Given the description of an element on the screen output the (x, y) to click on. 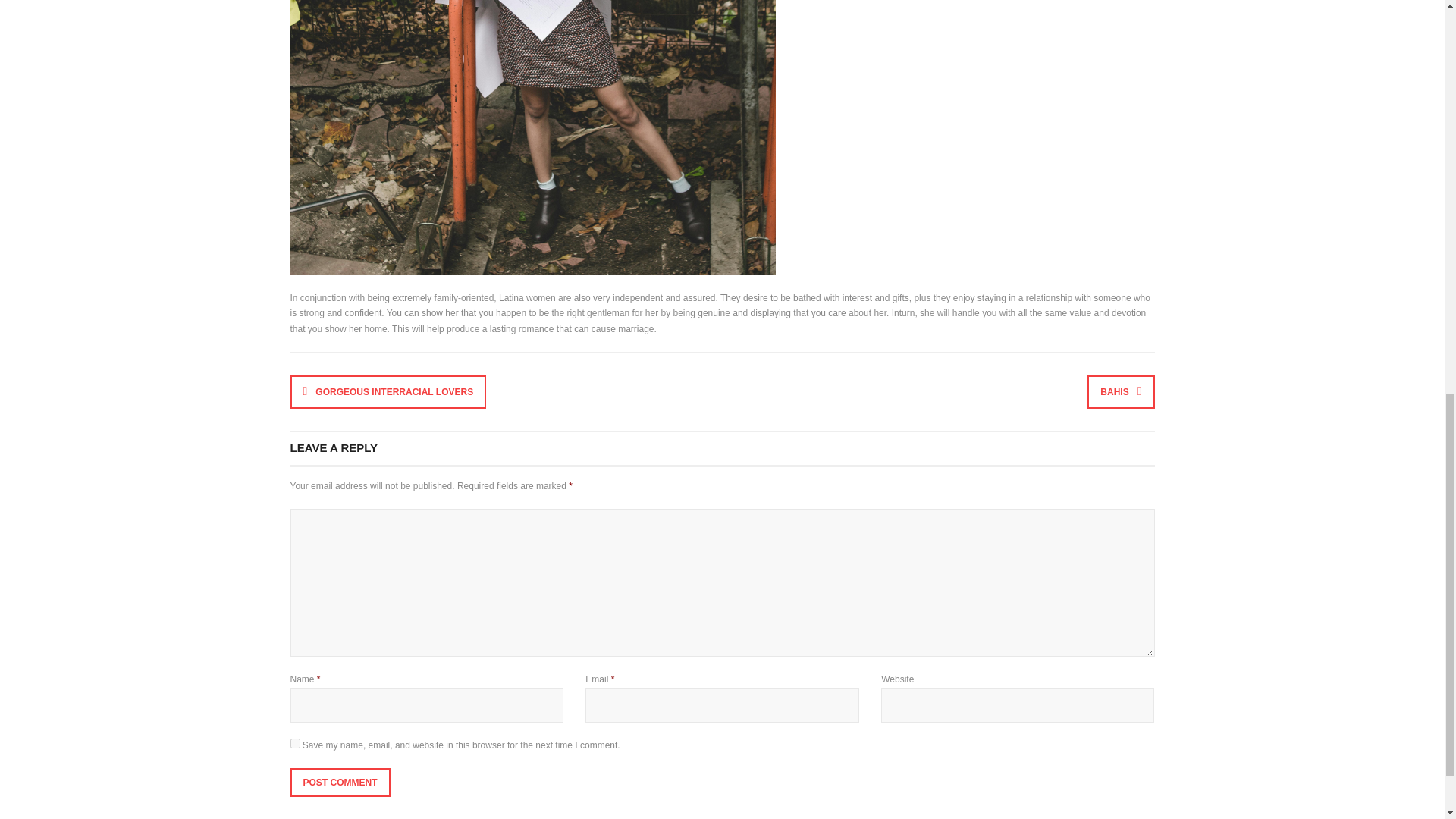
Post Comment (339, 782)
Post Comment (339, 782)
BAHIS (1120, 391)
GORGEOUS INTERRACIAL LOVERS (387, 391)
yes (294, 743)
